Given the description of an element on the screen output the (x, y) to click on. 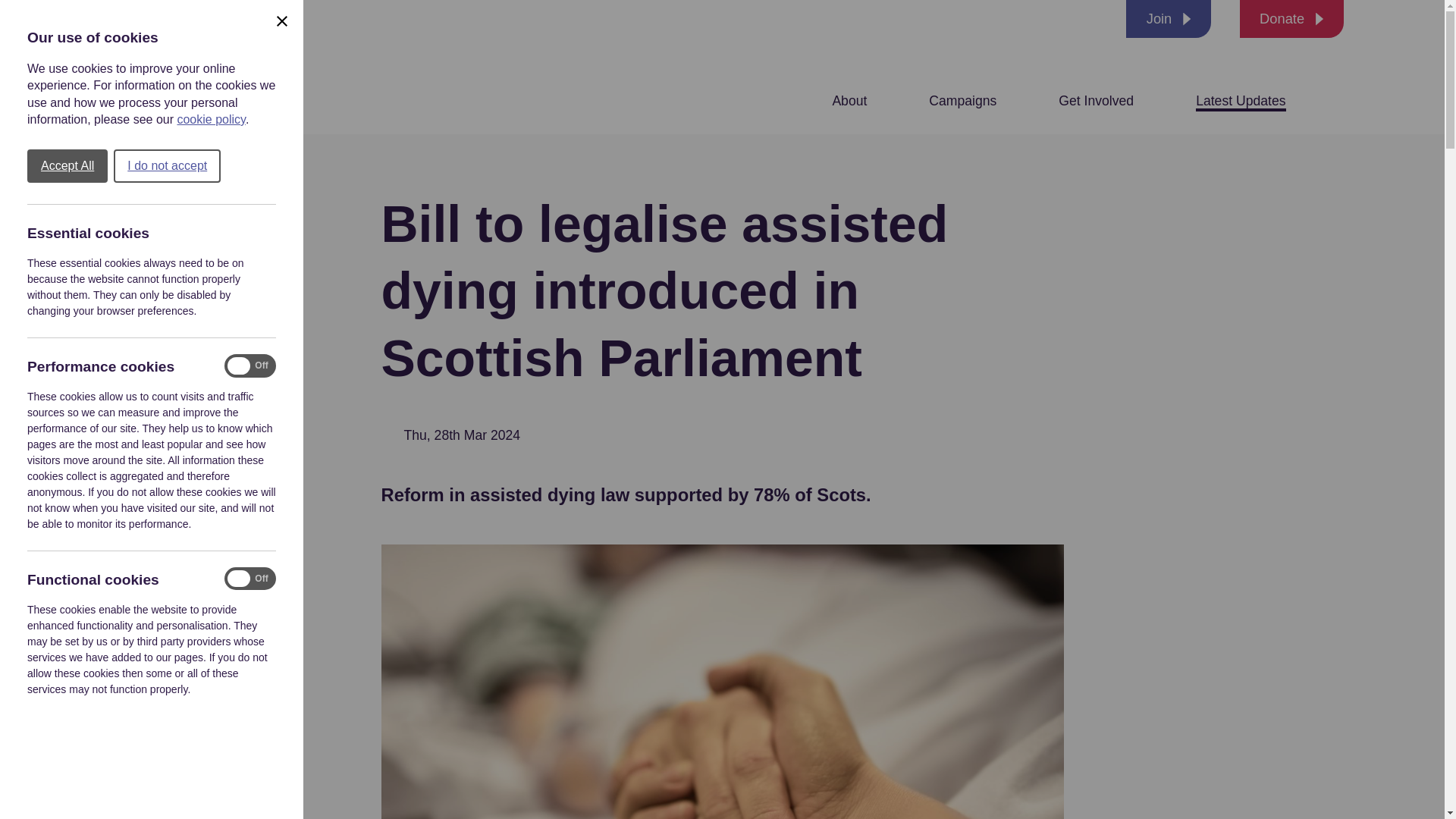
Donate (1291, 18)
Accept All (67, 165)
I do not accept (167, 165)
cookie policy (210, 119)
Campaigns (961, 100)
Join (1167, 18)
About (848, 100)
Logo (192, 66)
Click to show search (1332, 100)
Latest Updates (1240, 100)
